Given the description of an element on the screen output the (x, y) to click on. 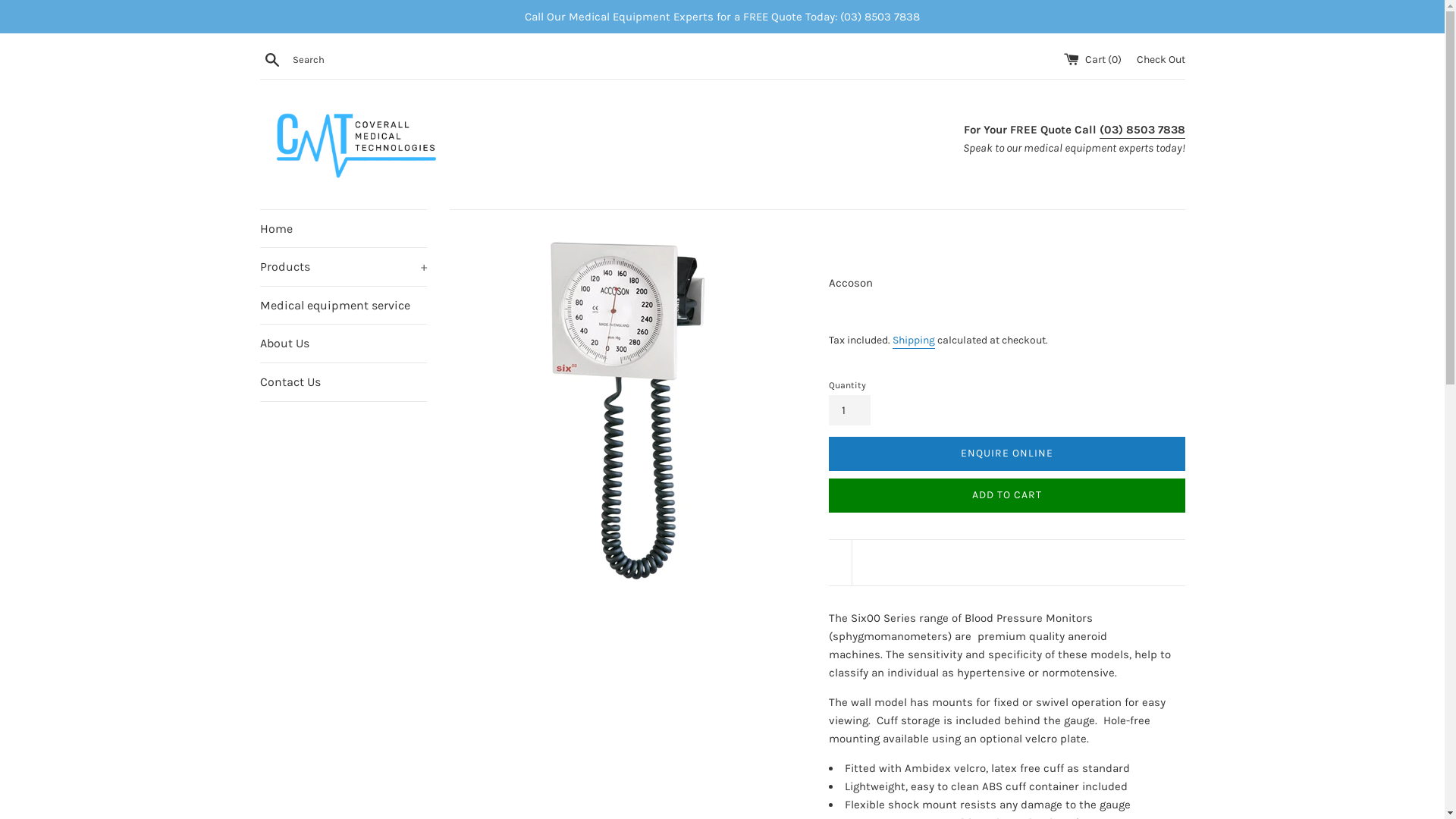
Search Element type: text (271, 58)
(03) 8503 7838 Element type: text (1142, 130)
Medical equipment service Element type: text (342, 305)
ENQUIRE ONLINE Element type: text (1006, 453)
Contact Us Element type: text (342, 382)
Check Out Element type: text (1159, 58)
Products
+ Element type: text (342, 266)
ADD TO CART Element type: text (1006, 495)
About Us Element type: text (342, 343)
Cart (0) Element type: text (1093, 58)
Home Element type: text (342, 228)
Shipping Element type: text (912, 340)
